Given the description of an element on the screen output the (x, y) to click on. 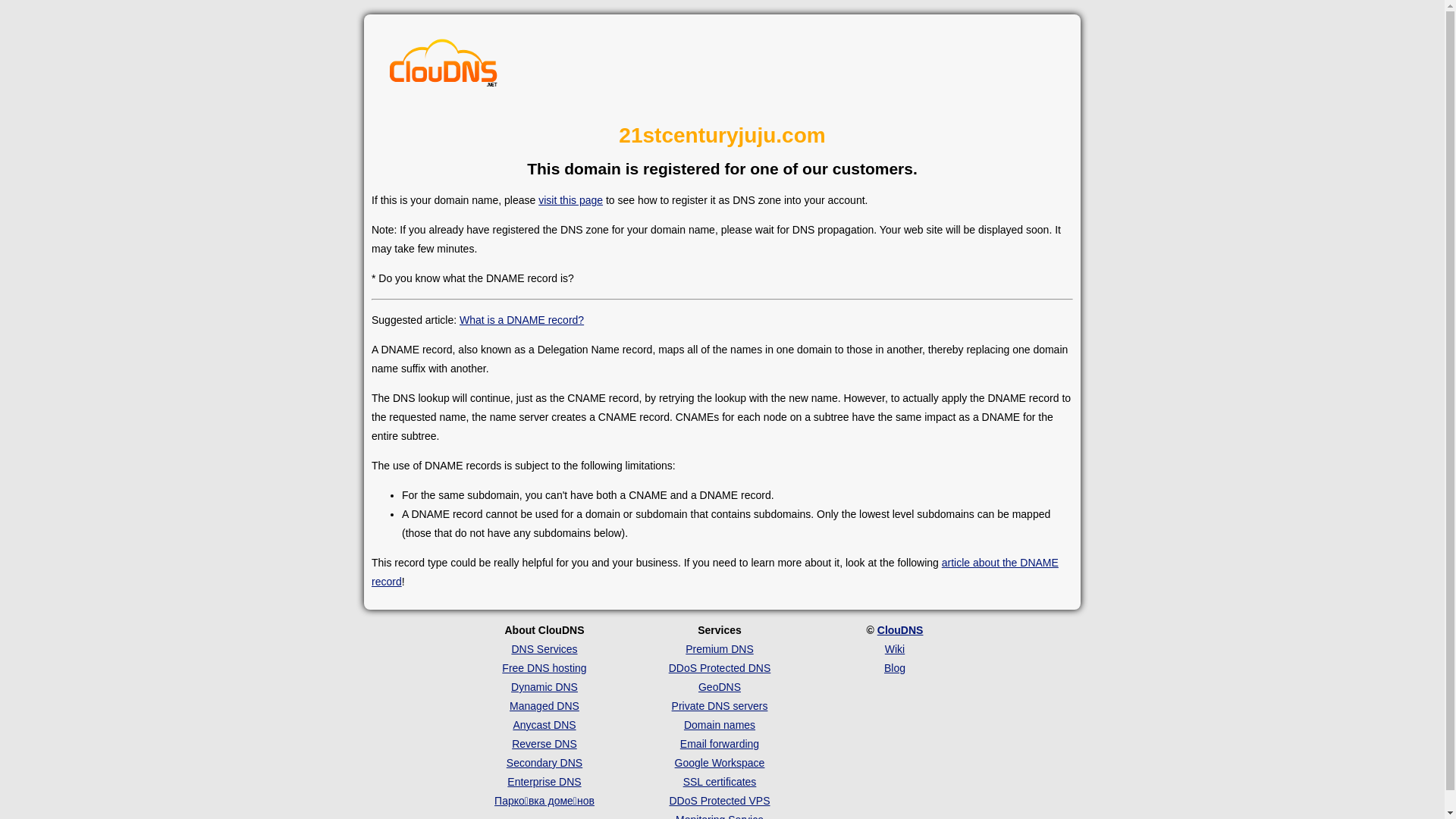
Wiki Element type: text (894, 649)
Enterprise DNS Element type: text (543, 781)
Secondary DNS Element type: text (544, 762)
SSL certificates Element type: text (719, 781)
DDoS Protected VPS Element type: text (718, 800)
Free DNS hosting Element type: text (544, 668)
Dynamic DNS Element type: text (544, 686)
Managed DNS Element type: text (544, 705)
Google Workspace Element type: text (719, 762)
Premium DNS Element type: text (719, 649)
ClouDNS Element type: text (900, 630)
visit this page Element type: text (570, 200)
Anycast DNS Element type: text (543, 724)
Cloud DNS Element type: hover (443, 66)
DDoS Protected DNS Element type: text (719, 668)
What is a DNAME record? Element type: text (521, 319)
GeoDNS Element type: text (719, 686)
article about the DNAME record Element type: text (714, 571)
Email forwarding Element type: text (719, 743)
Blog Element type: text (894, 668)
Private DNS servers Element type: text (719, 705)
DNS Services Element type: text (544, 649)
Reverse DNS Element type: text (544, 743)
Domain names Element type: text (719, 724)
